Given the description of an element on the screen output the (x, y) to click on. 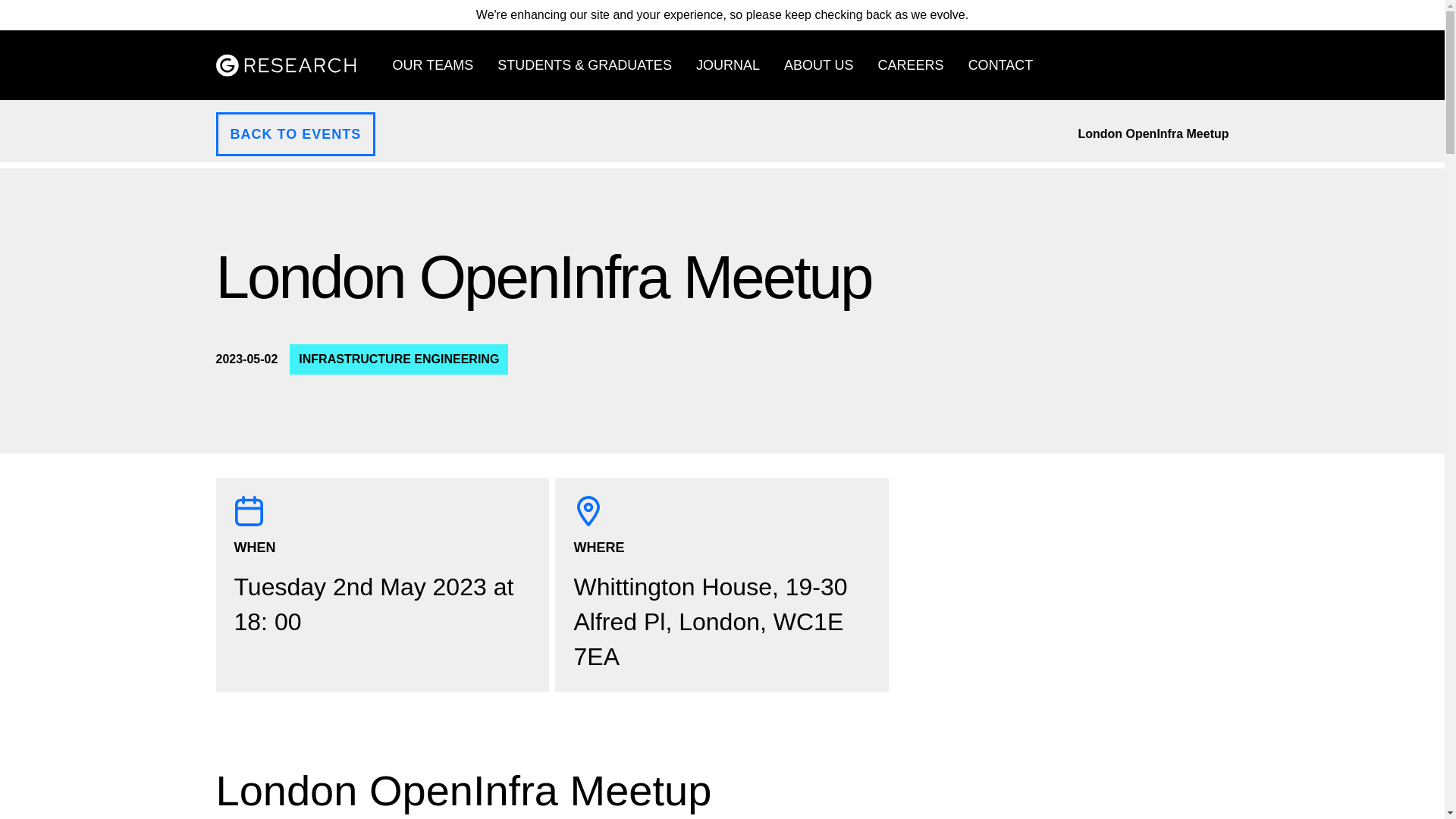
BACK TO EVENTS (295, 134)
CONTACT (1000, 64)
